Given the description of an element on the screen output the (x, y) to click on. 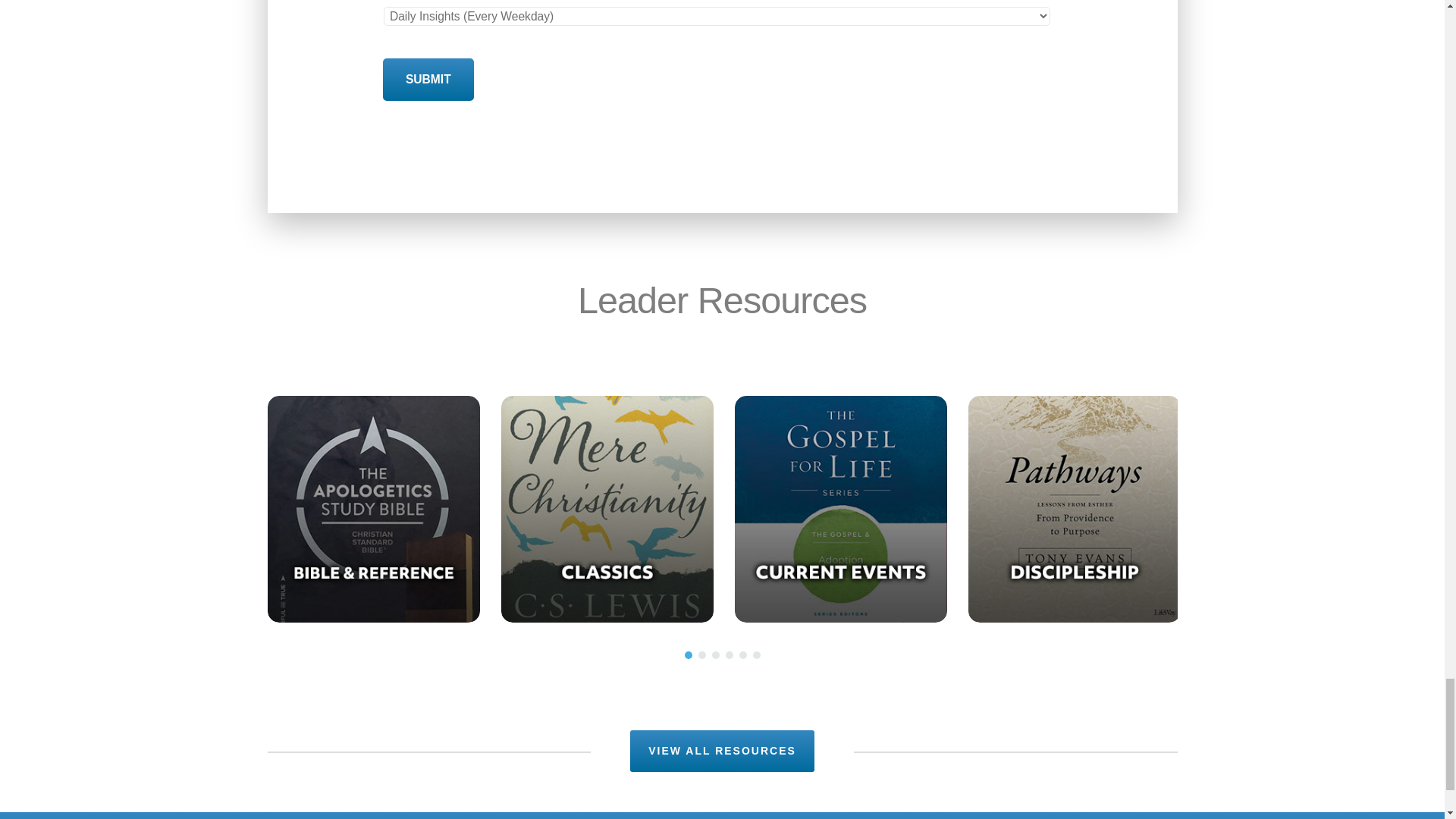
Submit (428, 79)
VIEW ALL RESOURCES (721, 750)
Submit (428, 79)
